Given the description of an element on the screen output the (x, y) to click on. 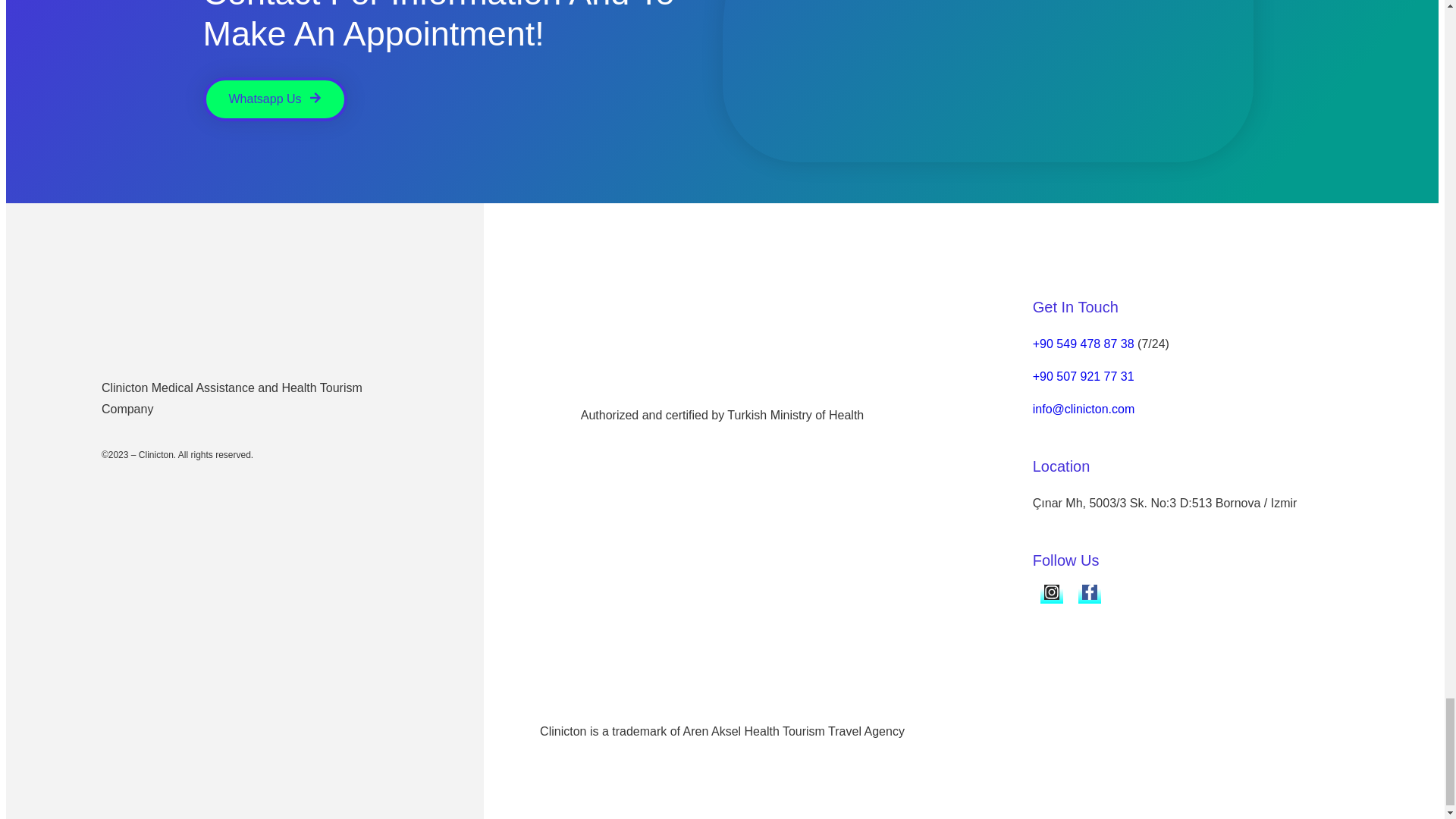
Whatsapp Us (275, 98)
